Given the description of an element on the screen output the (x, y) to click on. 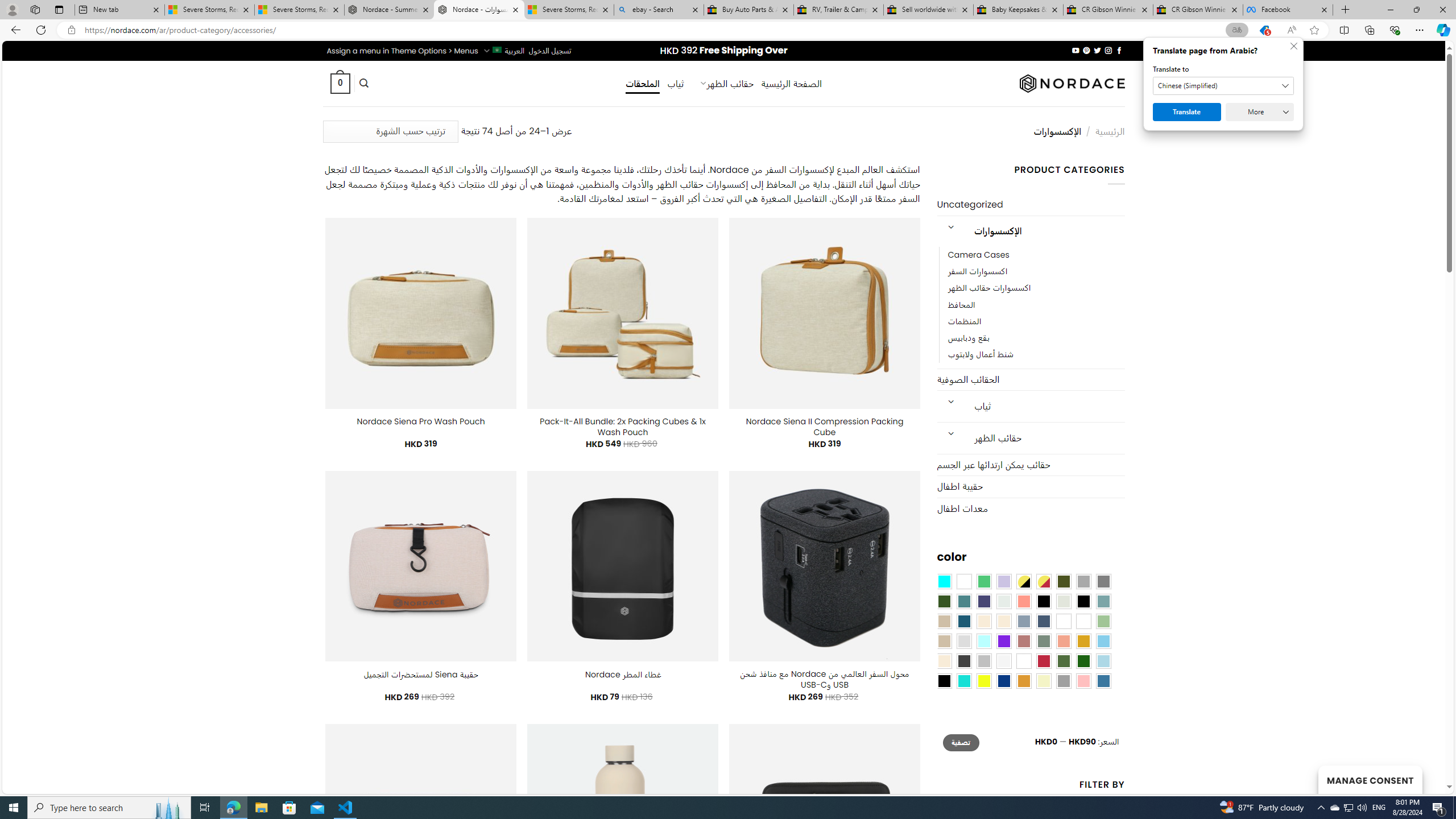
Blue Sage (1103, 601)
All Black (1043, 601)
Kelp (1063, 621)
Dull Nickle (1003, 601)
Dusty Blue (1023, 621)
Follow on Pinterest (1086, 50)
